Given the description of an element on the screen output the (x, y) to click on. 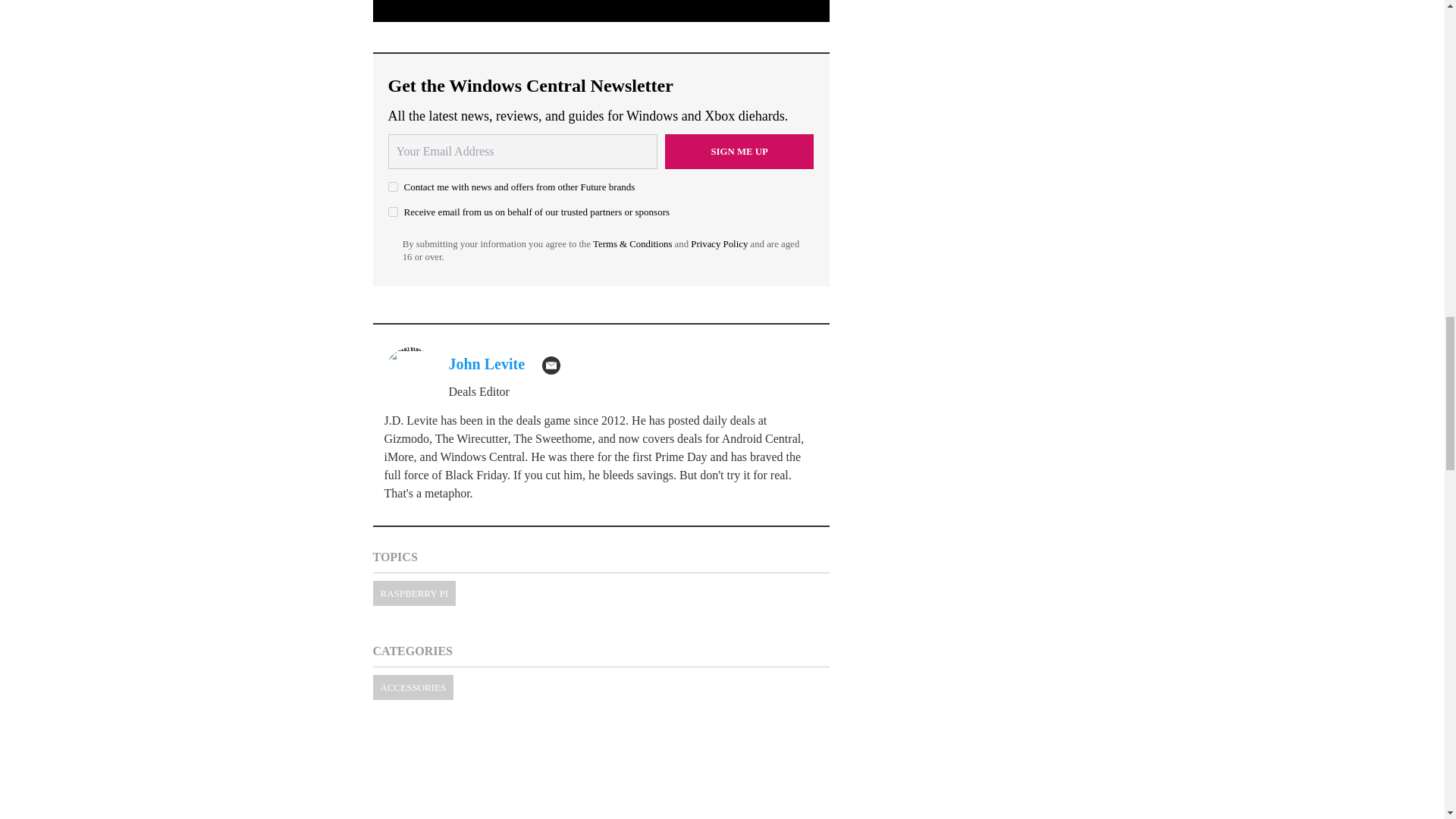
Sign me up (739, 151)
on (392, 212)
Sign me up (739, 151)
Privacy Policy (719, 244)
John Levite (486, 363)
on (392, 186)
